Given the description of an element on the screen output the (x, y) to click on. 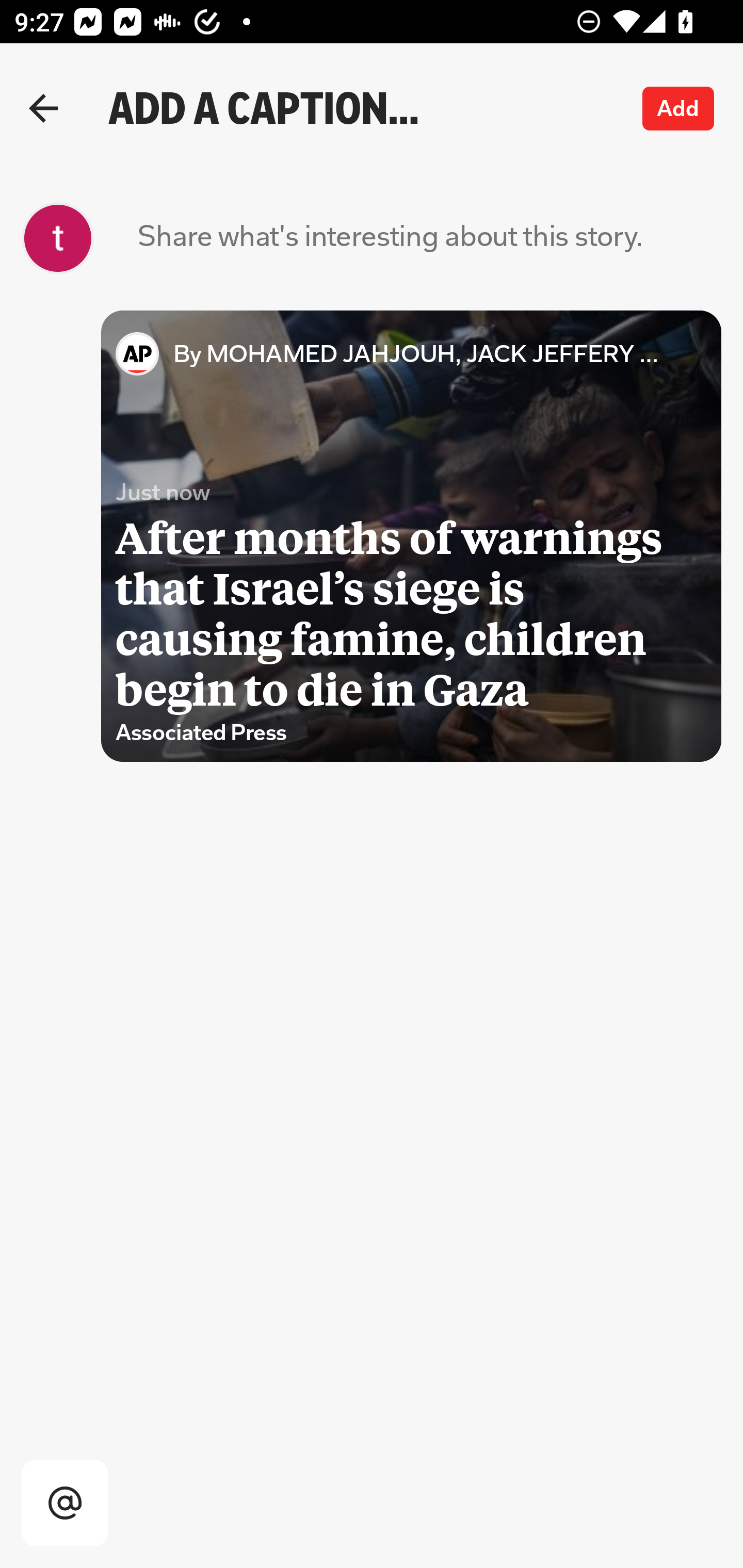
Add (678, 108)
Share what's interesting about this story. (390, 238)
